Given the description of an element on the screen output the (x, y) to click on. 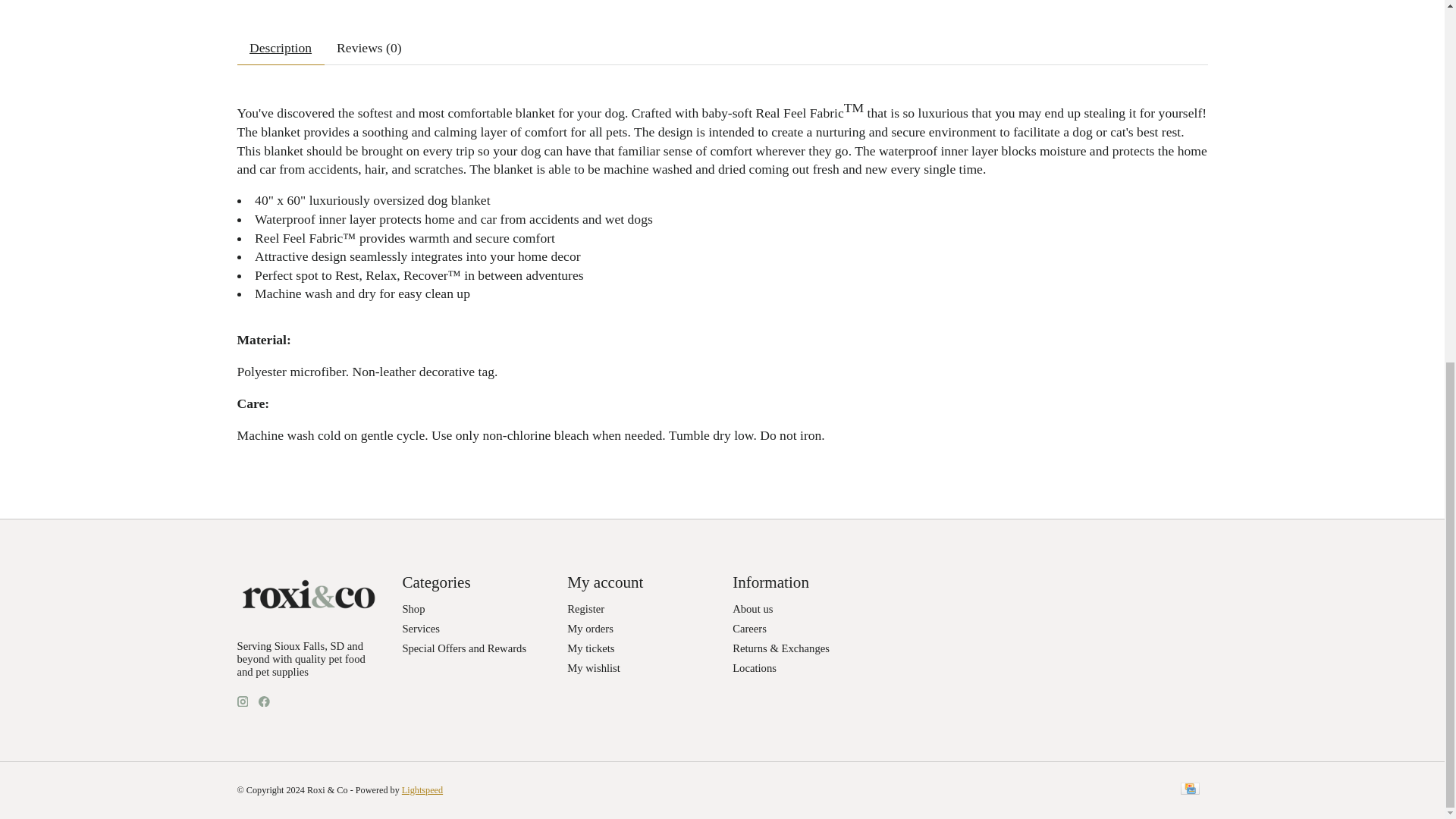
My orders (589, 628)
Credit Card (1188, 789)
My wishlist (593, 667)
Careers (749, 628)
Lightspeed (421, 789)
My tickets (590, 648)
Locations (754, 667)
Register (585, 608)
About us (752, 608)
